Given the description of an element on the screen output the (x, y) to click on. 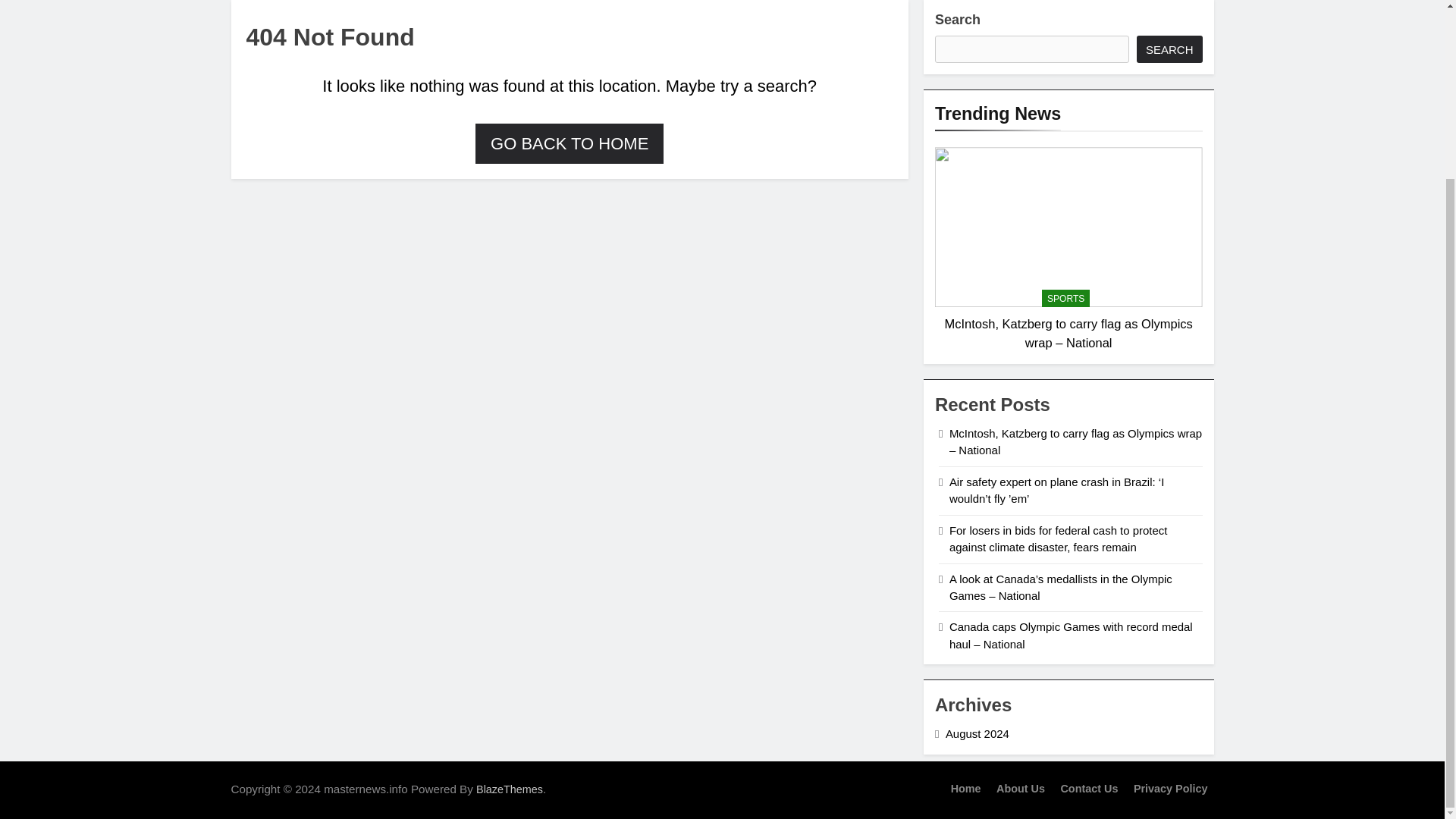
SEARCH (1169, 49)
About Us (1020, 788)
BlazeThemes (509, 788)
Home (965, 788)
Contact Us (1088, 788)
Privacy Policy (1171, 788)
August 2024 (976, 733)
SPORTS (1065, 298)
GO BACK TO HOME (569, 142)
